Given the description of an element on the screen output the (x, y) to click on. 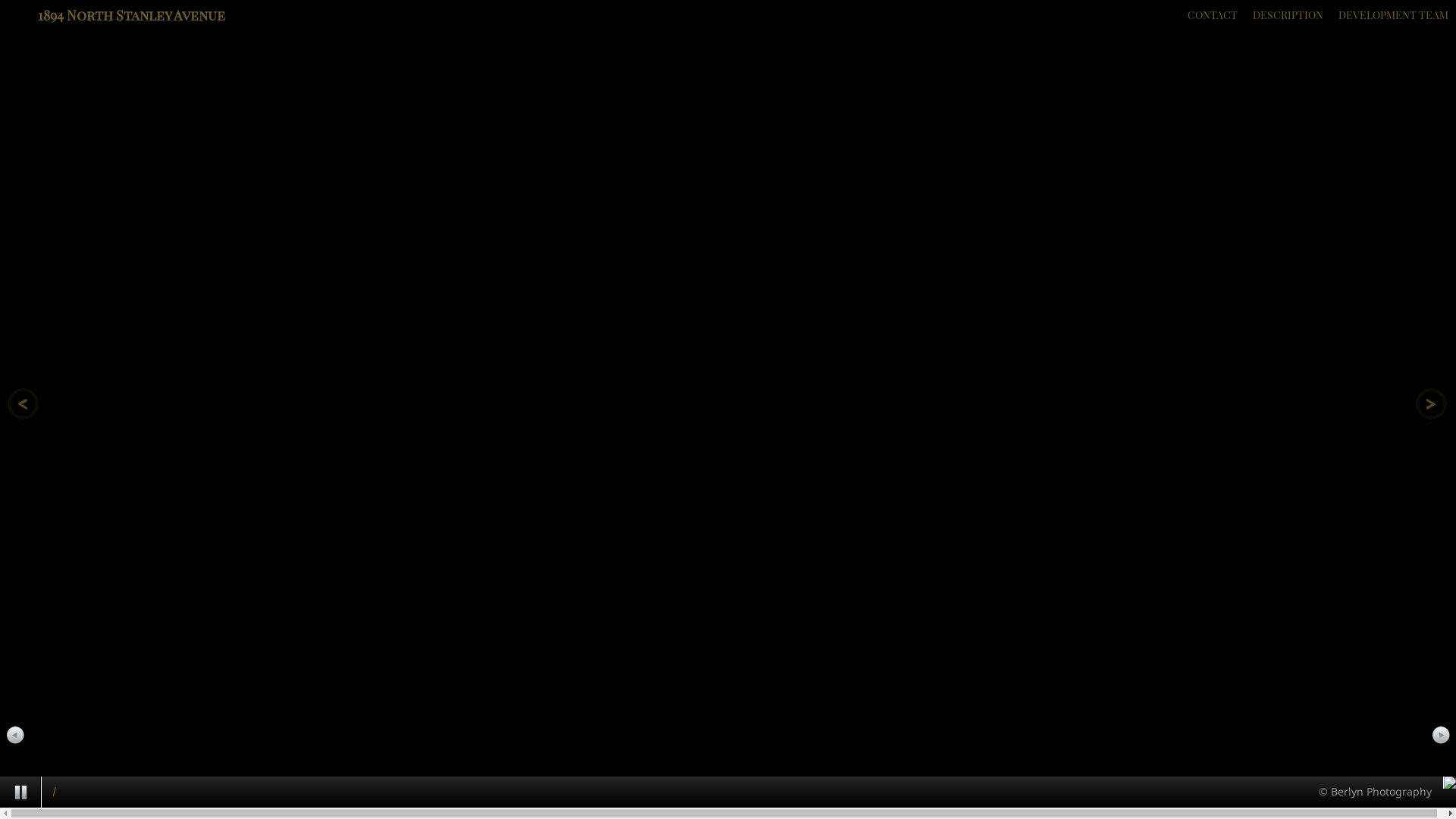
DEVELOPMENT TEAM Element type: text (1393, 14)
CONTACT Element type: text (1212, 14)
1894 North Stanley Avenue Element type: text (131, 15)
DESCRIPTION Element type: text (1287, 14)
